Given the description of an element on the screen output the (x, y) to click on. 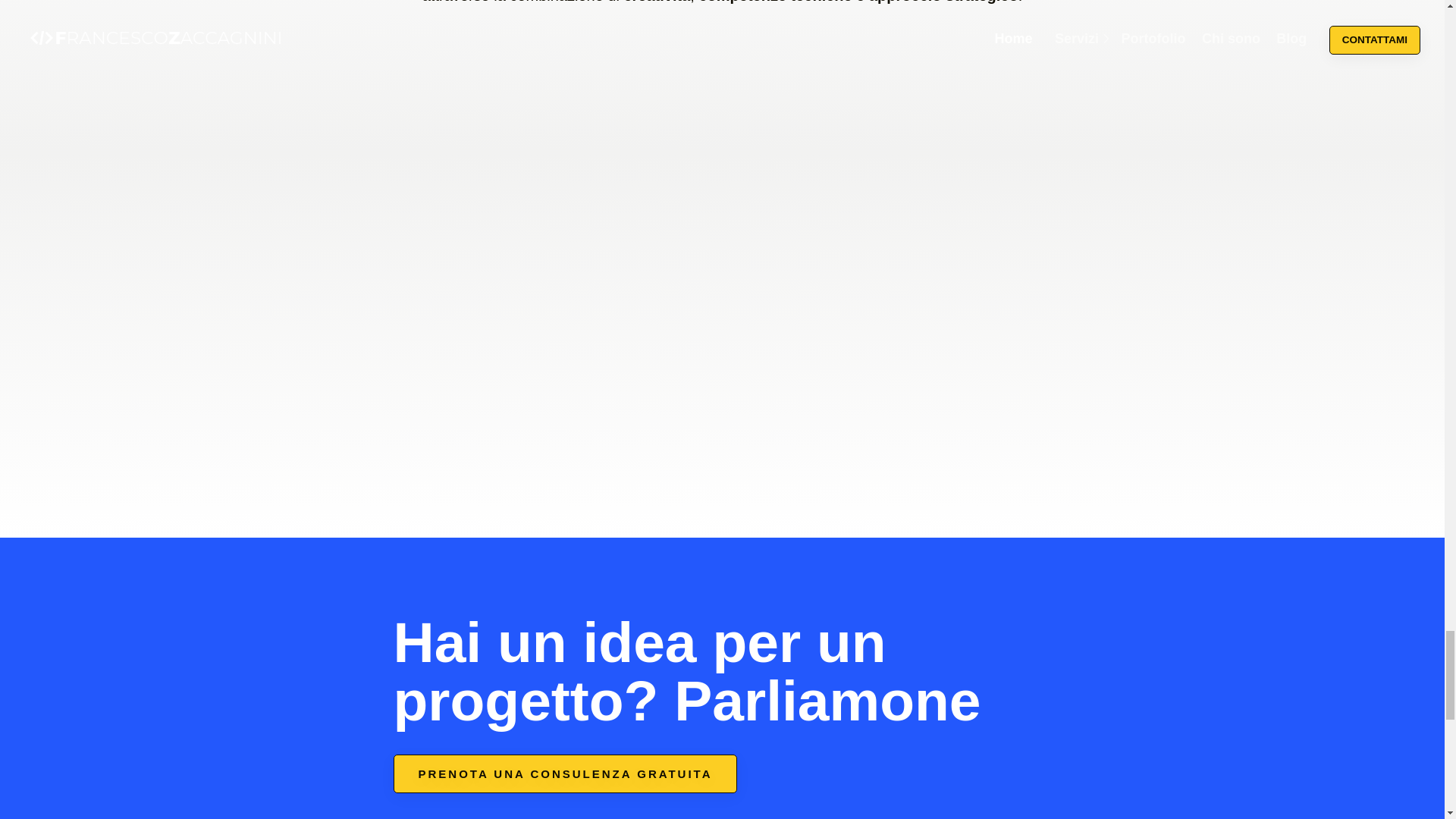
PRENOTA UNA CONSULENZA GRATUITA (564, 773)
